Given the description of an element on the screen output the (x, y) to click on. 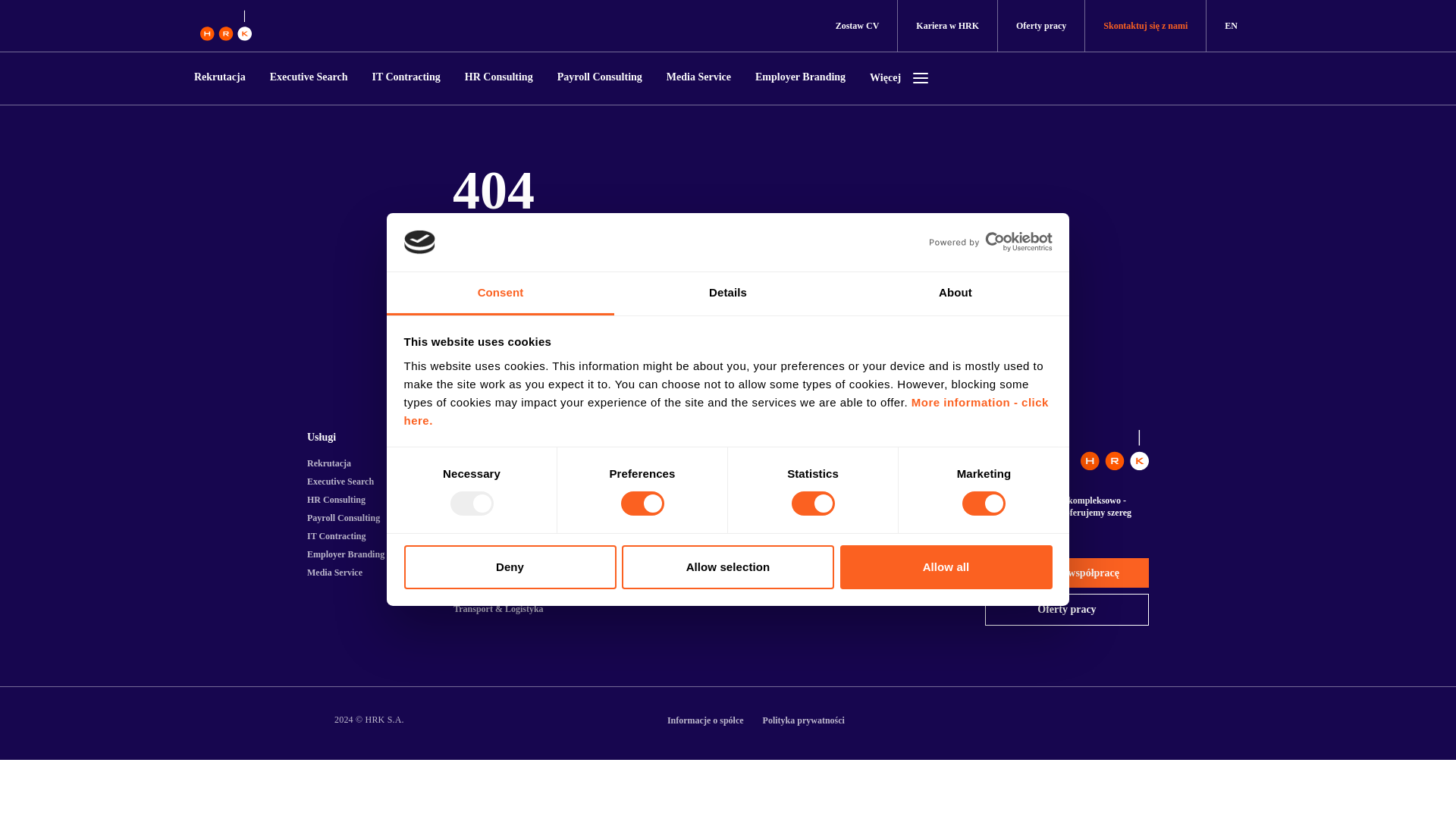
Details (727, 293)
More information - click here. (725, 410)
Allow all (946, 566)
Kariera w HRK (946, 25)
Allow selection (727, 566)
Oferty pracy (1040, 25)
Deny (509, 566)
About (954, 293)
Zostaw CV (857, 25)
Consent (500, 293)
